Given the description of an element on the screen output the (x, y) to click on. 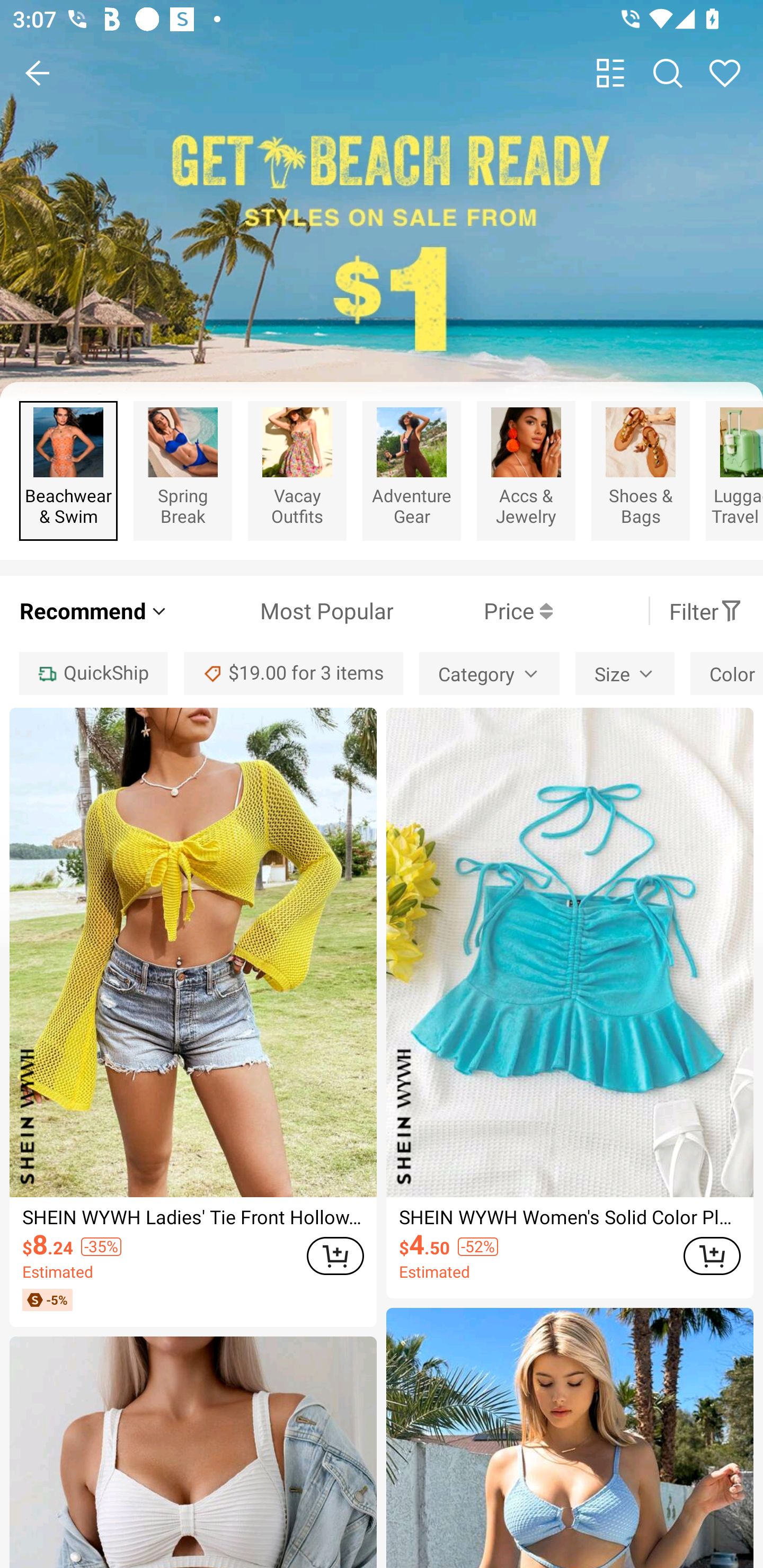
change view (610, 72)
Search (667, 72)
Share (724, 72)
BACK (38, 72)
Beachwear & Swim (68, 470)
Spring Break (182, 470)
Vacay Outfits (296, 470)
Adventure Gear (411, 470)
Accs & Jewelry (525, 470)
Shoes & Bags (640, 470)
Recommend (94, 610)
Most Popular (280, 610)
Price (472, 610)
Filter (705, 610)
QuickShip (93, 673)
$19.00 for 3 items (292, 673)
Category (488, 673)
Size (624, 673)
Color (726, 673)
ADD TO CART (334, 1255)
ADD TO CART (711, 1255)
